Given the description of an element on the screen output the (x, y) to click on. 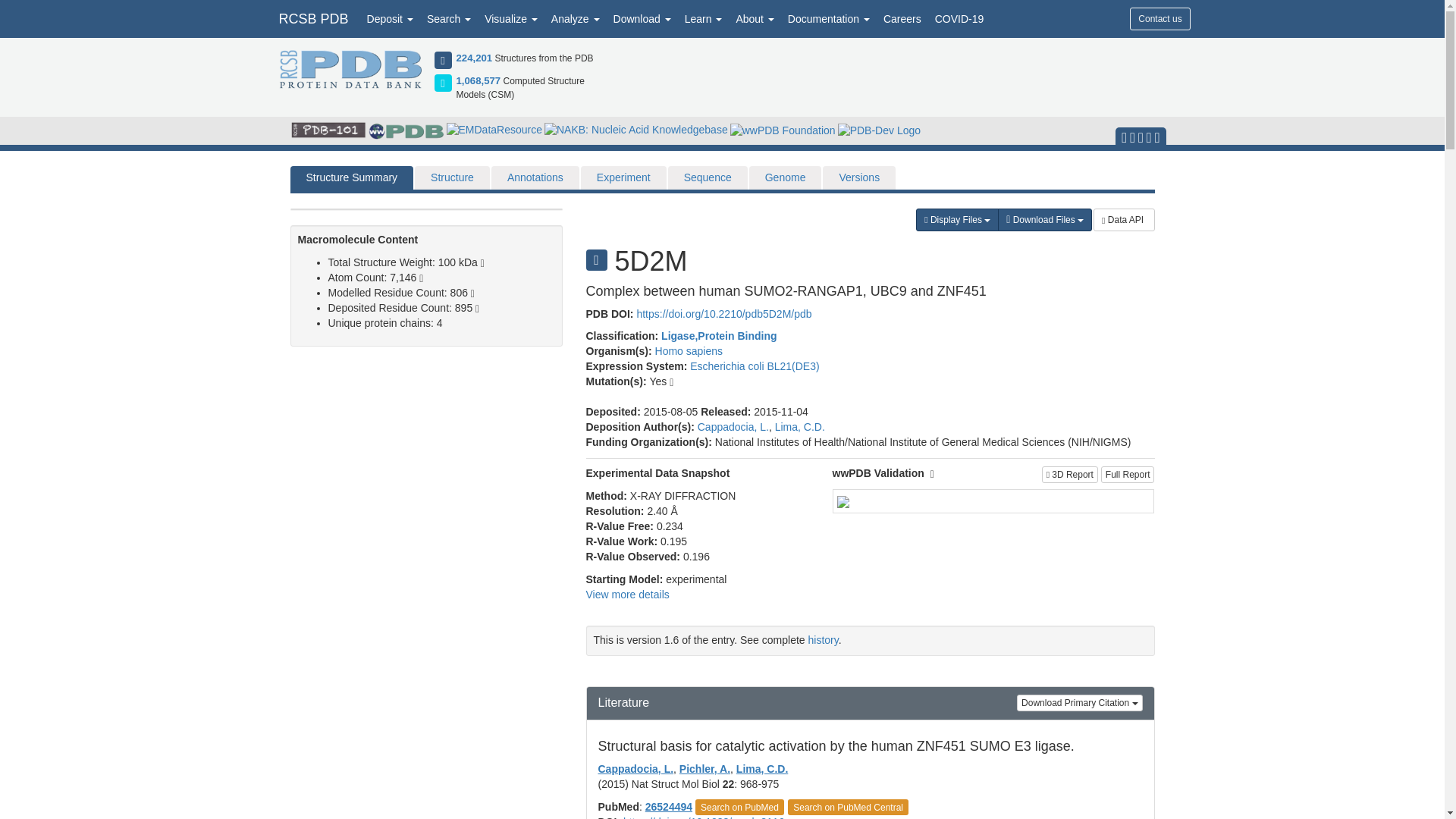
Search  (448, 18)
RCSB PDB (312, 18)
Deposit  (389, 18)
Analyze  (575, 18)
Visualize  (510, 18)
